Given the description of an element on the screen output the (x, y) to click on. 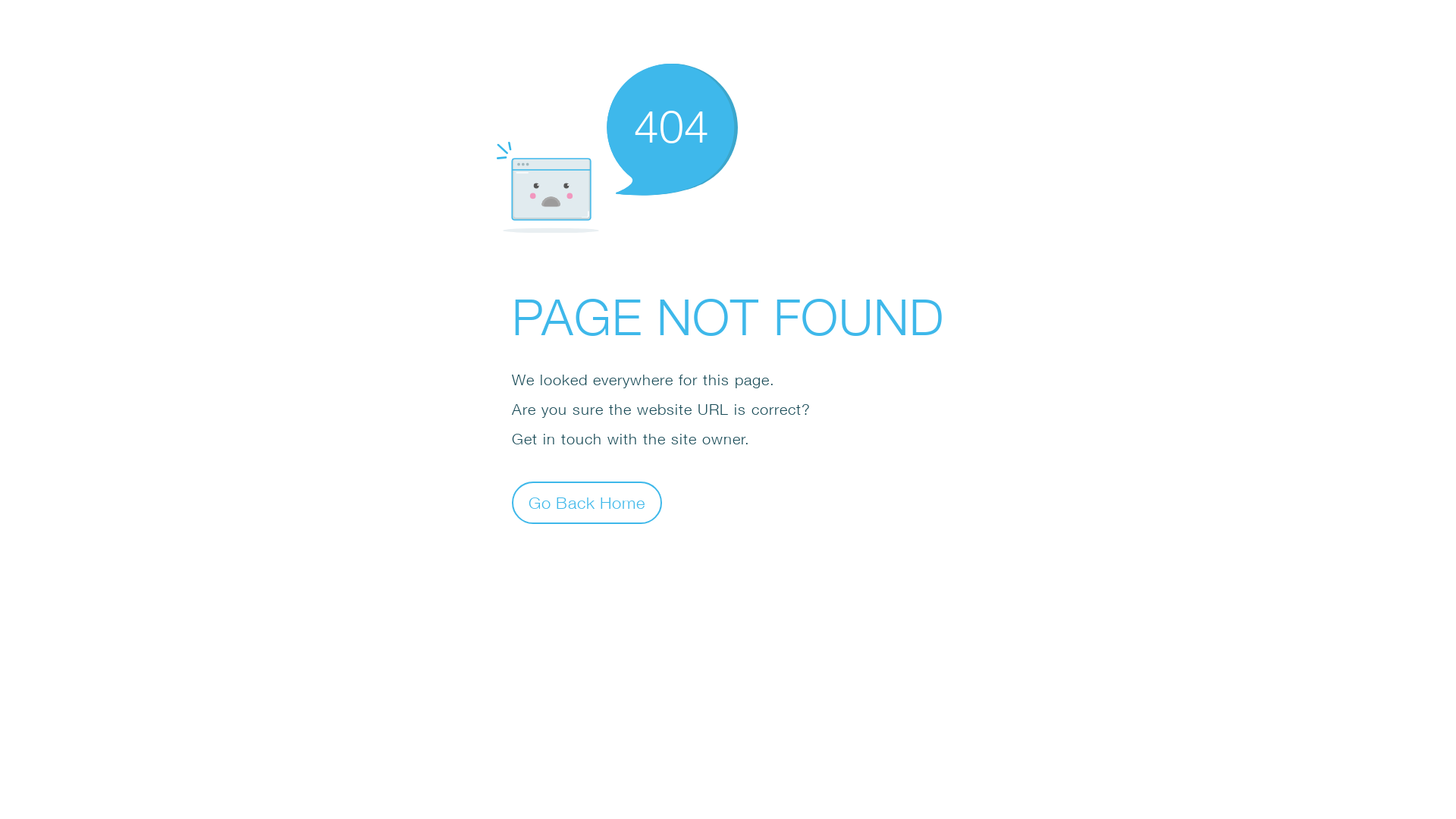
Go Back Home Element type: text (586, 502)
